Given the description of an element on the screen output the (x, y) to click on. 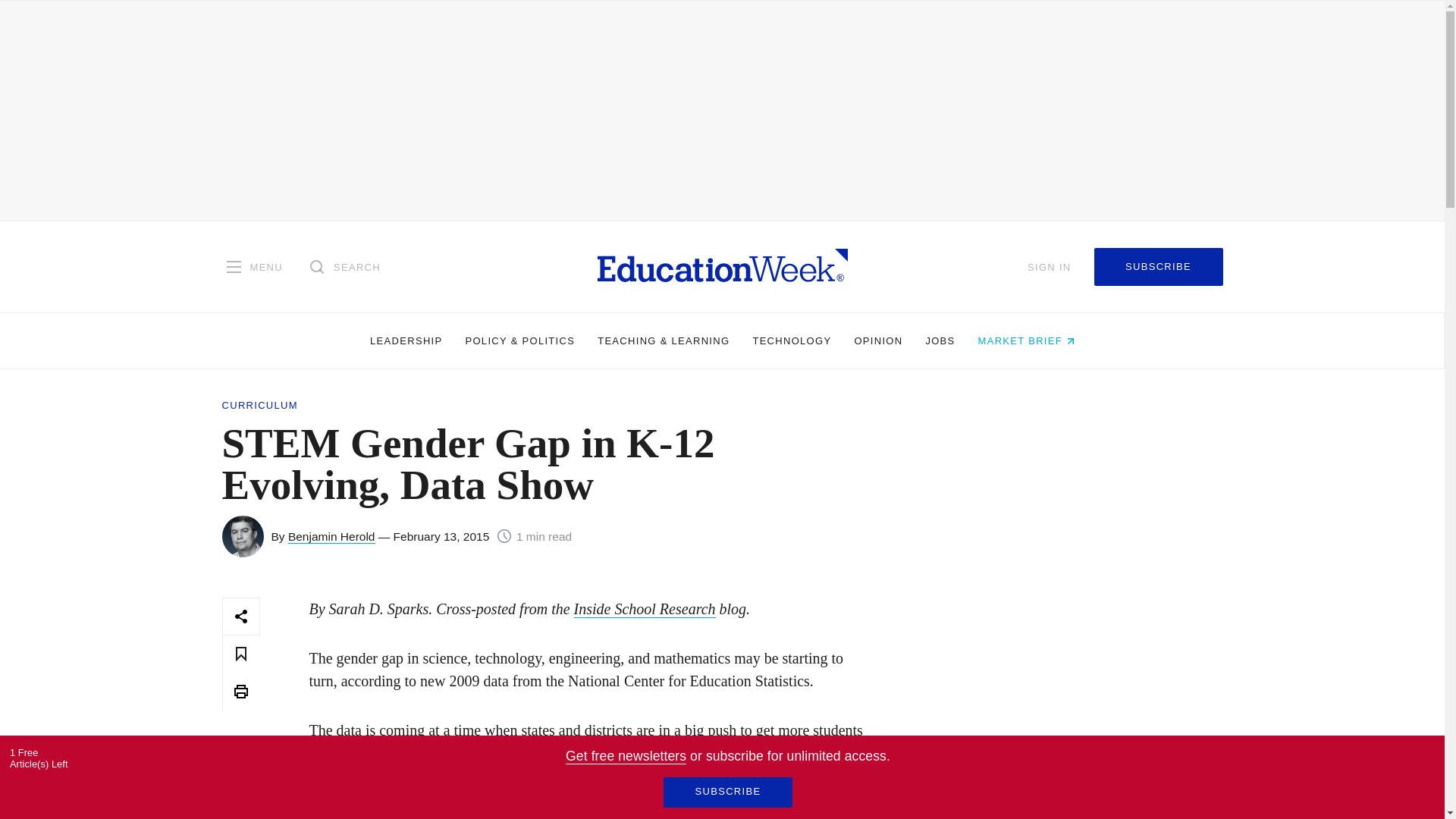
Homepage (721, 266)
3rd party ad content (1070, 708)
